Given the description of an element on the screen output the (x, y) to click on. 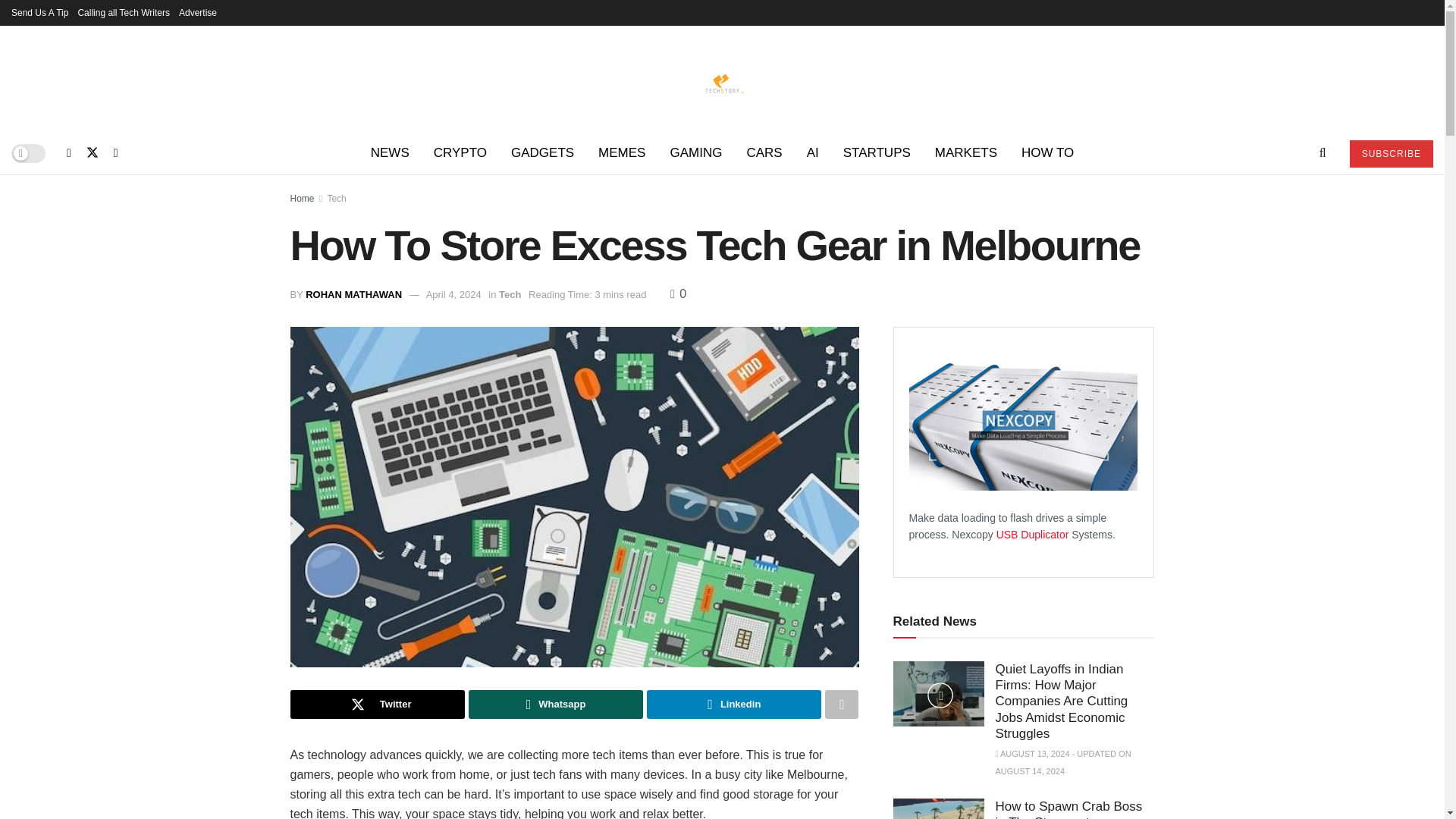
ROHAN MATHAWAN (353, 294)
Home (301, 198)
USB duplicator (1033, 534)
NEWS (390, 152)
MEMES (622, 152)
CRYPTO (460, 152)
Calling all Tech Writers (123, 12)
MARKETS (966, 152)
GADGETS (542, 152)
CARS (763, 152)
